Given the description of an element on the screen output the (x, y) to click on. 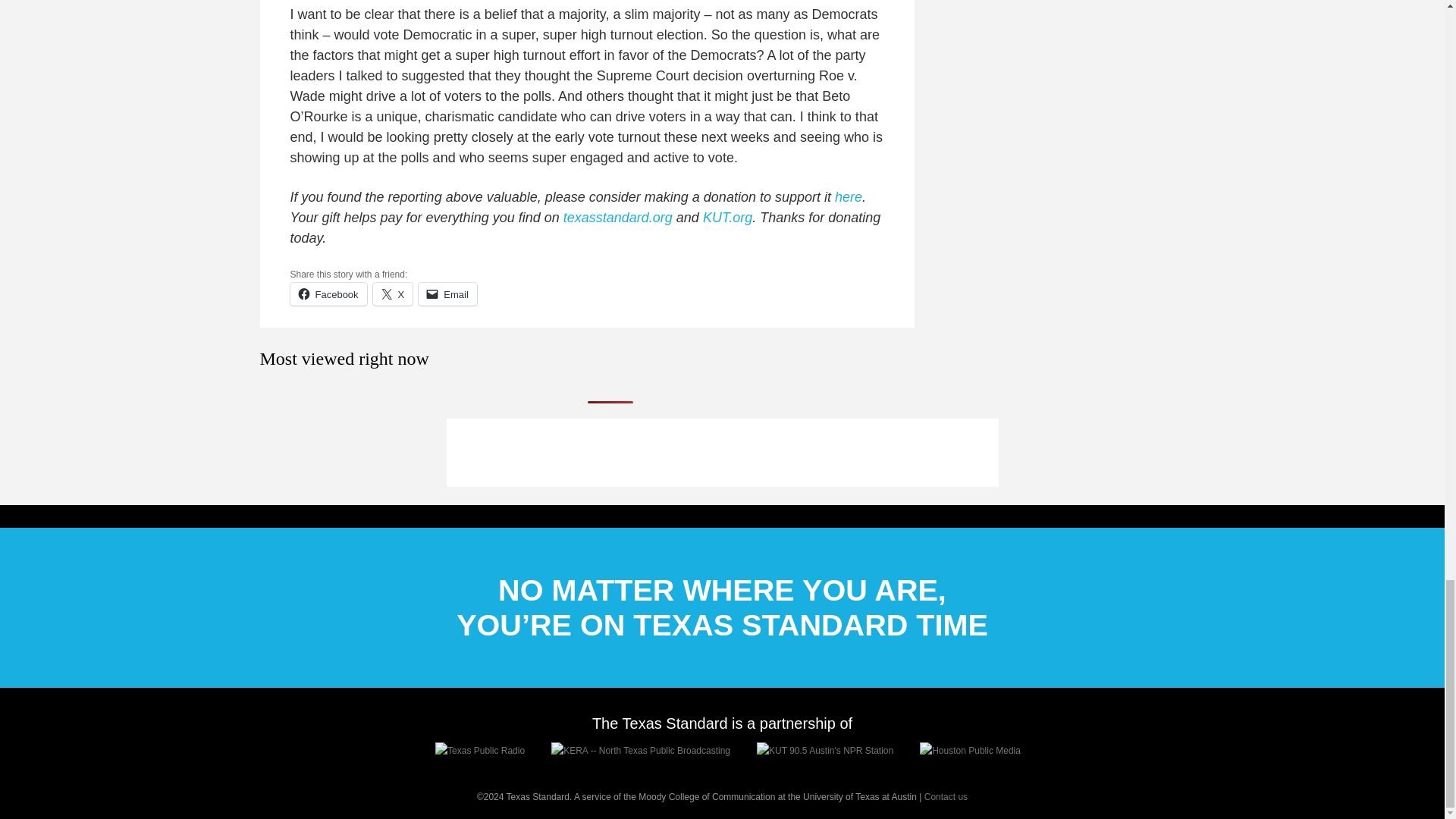
Click to share on Facebook (327, 293)
Click to share on X (392, 293)
Click to email a link to a friend (448, 293)
